Given the description of an element on the screen output the (x, y) to click on. 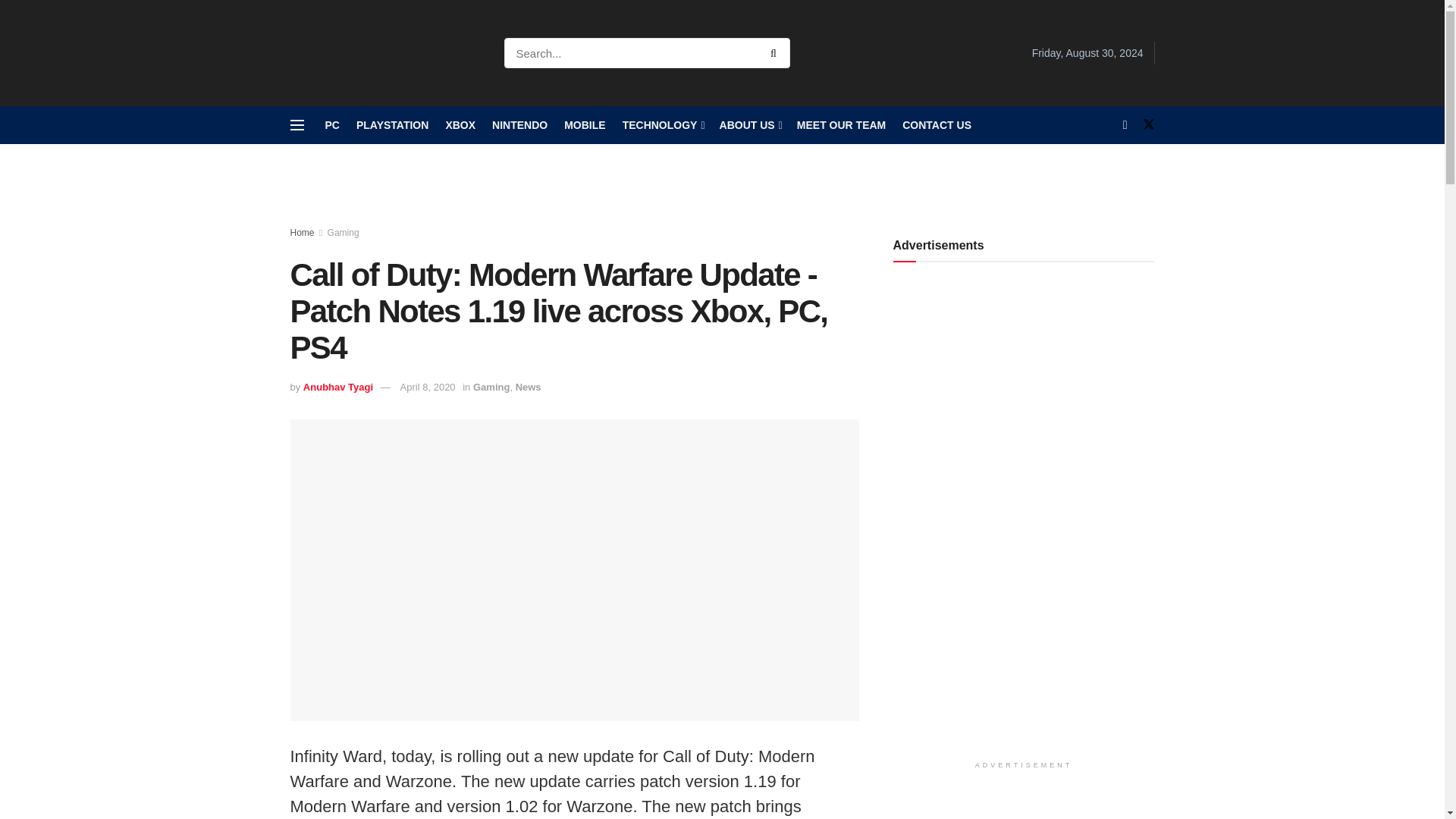
PLAYSTATION (392, 125)
MEET OUR TEAM (840, 125)
NINTENDO (519, 125)
MOBILE (584, 125)
CONTACT US (936, 125)
TECHNOLOGY (663, 125)
ABOUT US (749, 125)
